Given the description of an element on the screen output the (x, y) to click on. 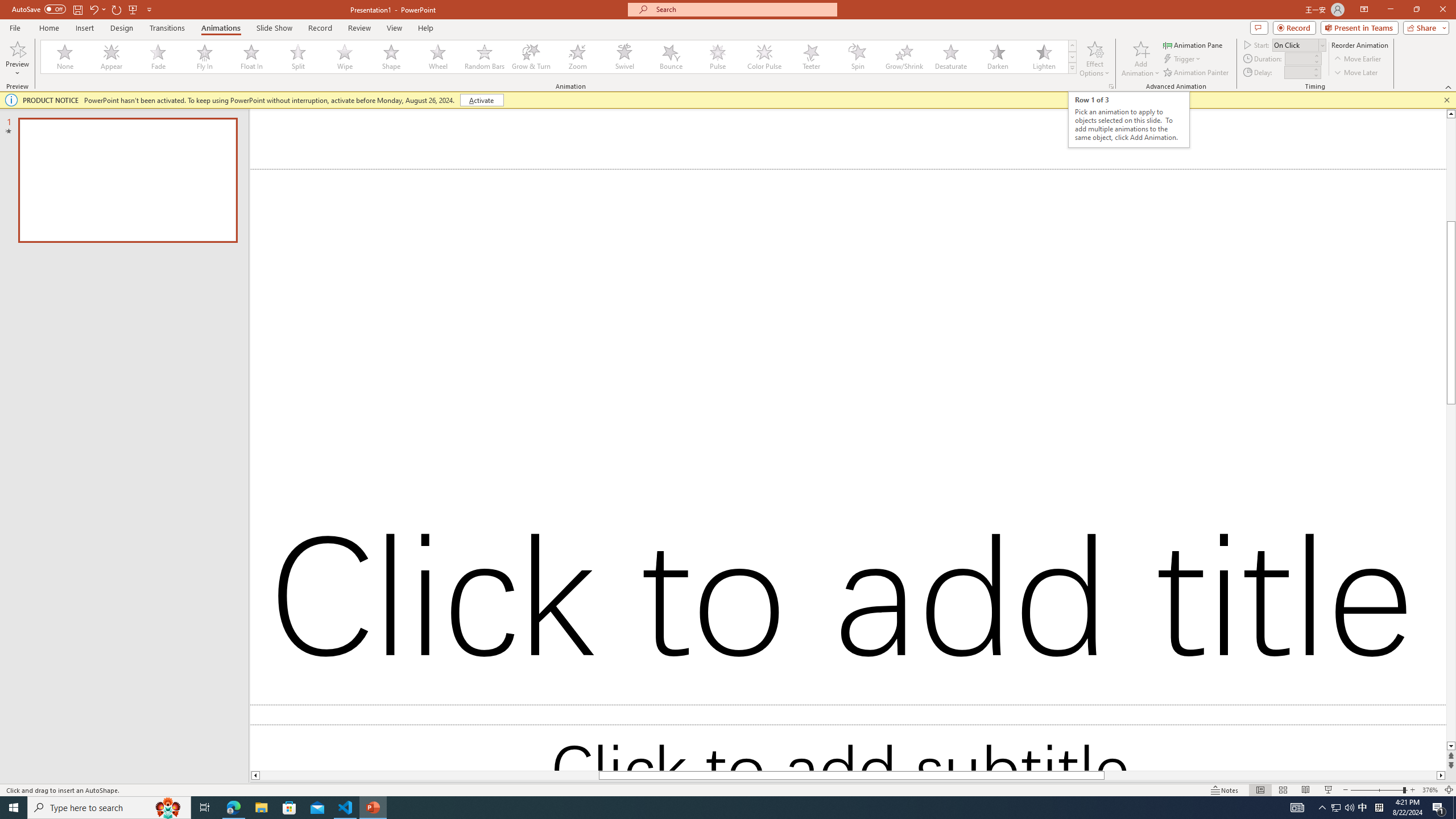
Teeter (810, 56)
Animation Styles (1071, 67)
Swivel (624, 56)
Float In (251, 56)
More (1315, 69)
Fade (158, 56)
Less (1315, 75)
Pulse (717, 56)
Split (298, 56)
Row up (1071, 45)
Close this message (1446, 99)
Lighten (1043, 56)
